Given the description of an element on the screen output the (x, y) to click on. 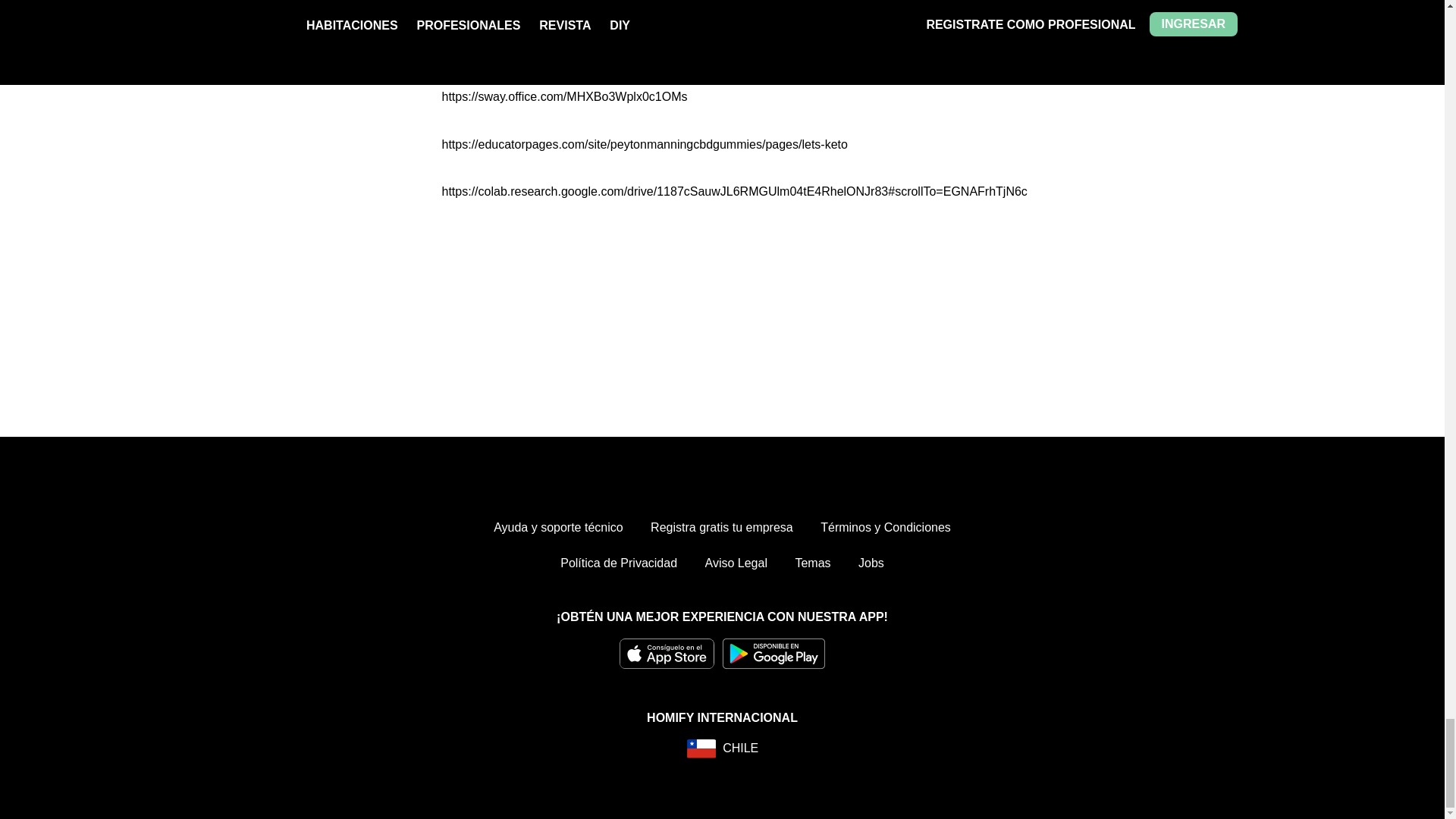
Registra gratis tu empresa (721, 527)
Jobs (871, 563)
Temas (811, 563)
Aviso Legal (735, 563)
